Given the description of an element on the screen output the (x, y) to click on. 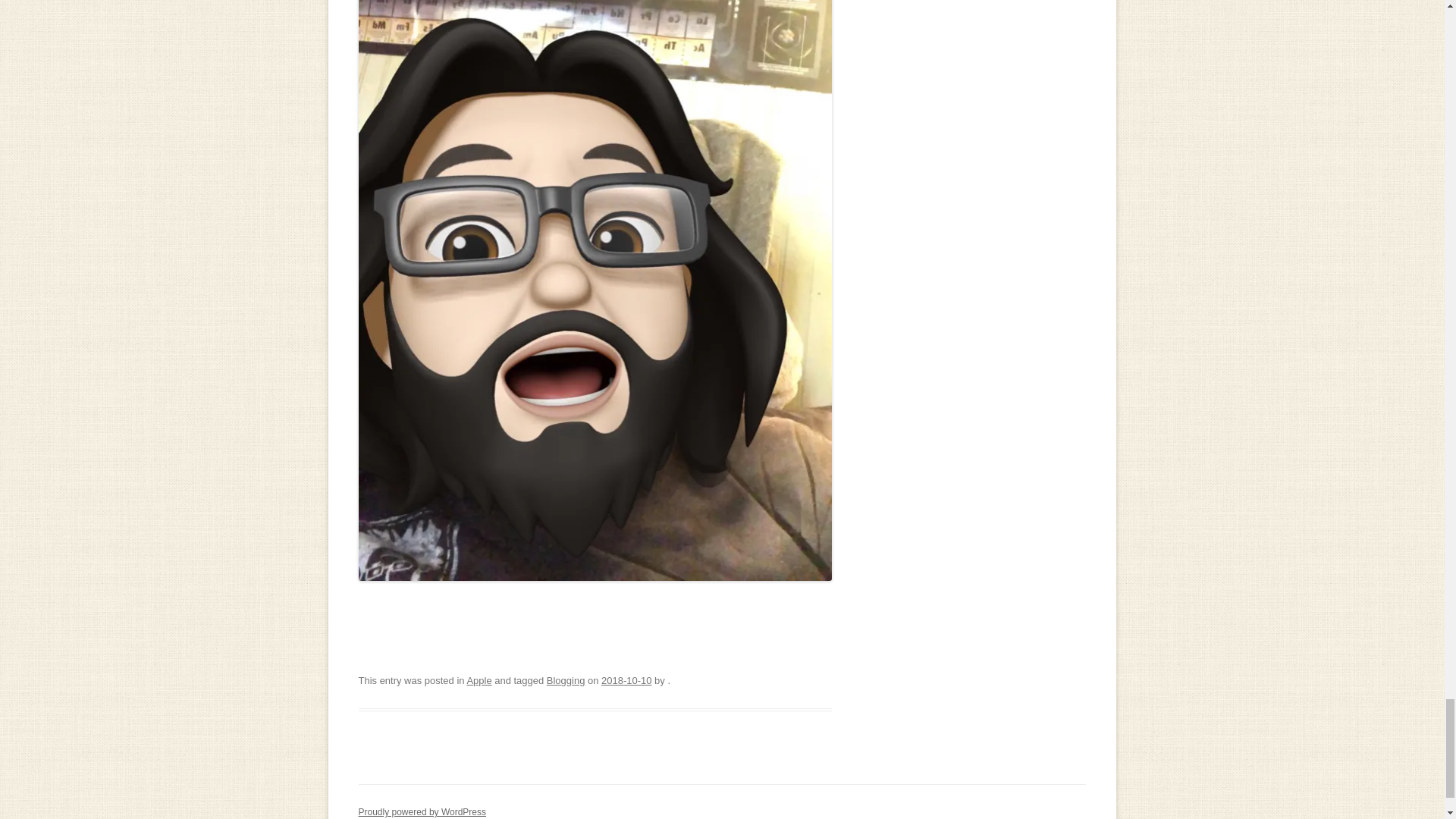
Apple (478, 680)
Blogging (566, 680)
Semantic Personal Publishing Platform (422, 811)
6:51 pm (625, 680)
2018-10-10 (625, 680)
